Given the description of an element on the screen output the (x, y) to click on. 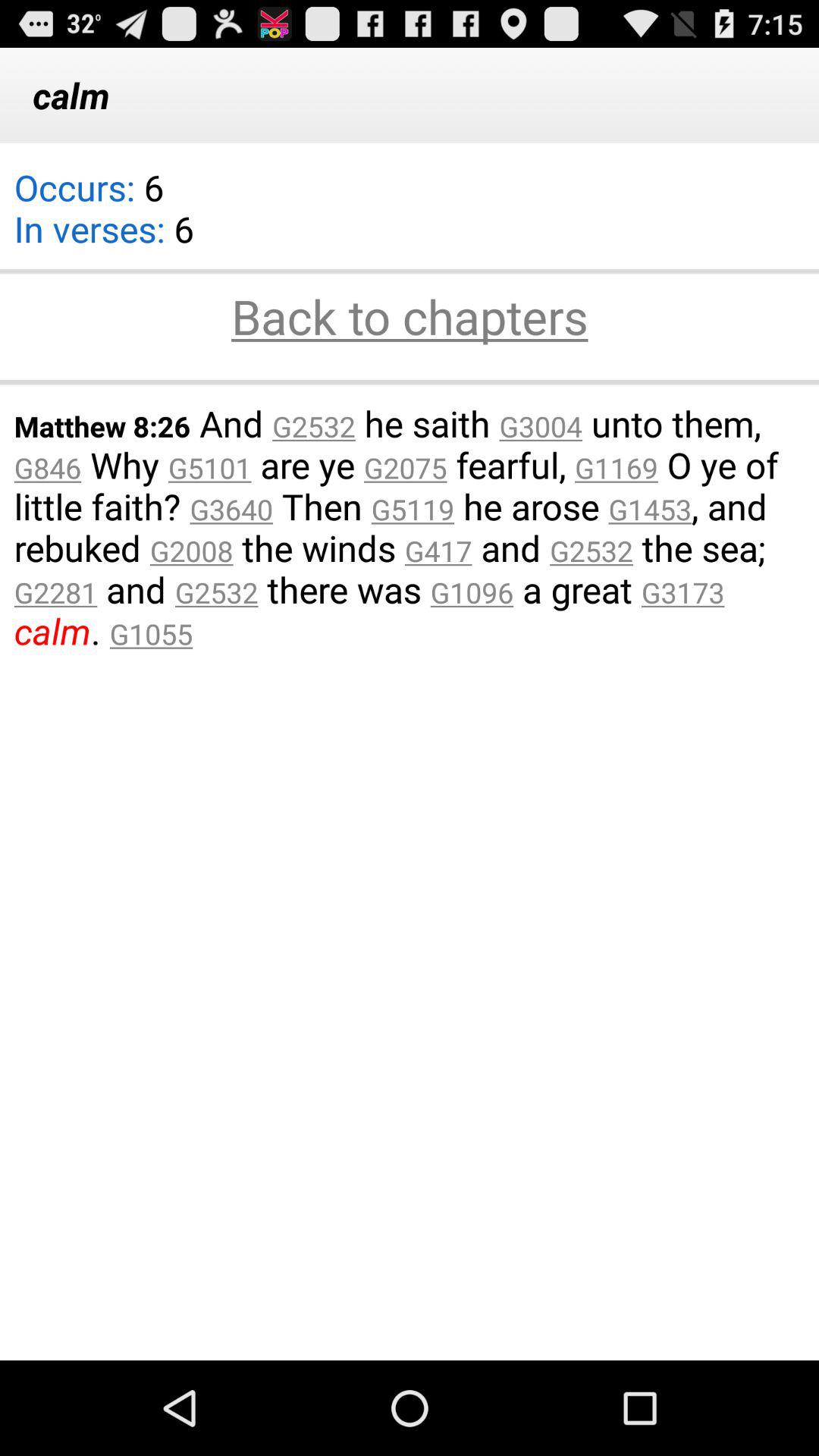
turn on icon above the back to chapters item (103, 218)
